Given the description of an element on the screen output the (x, y) to click on. 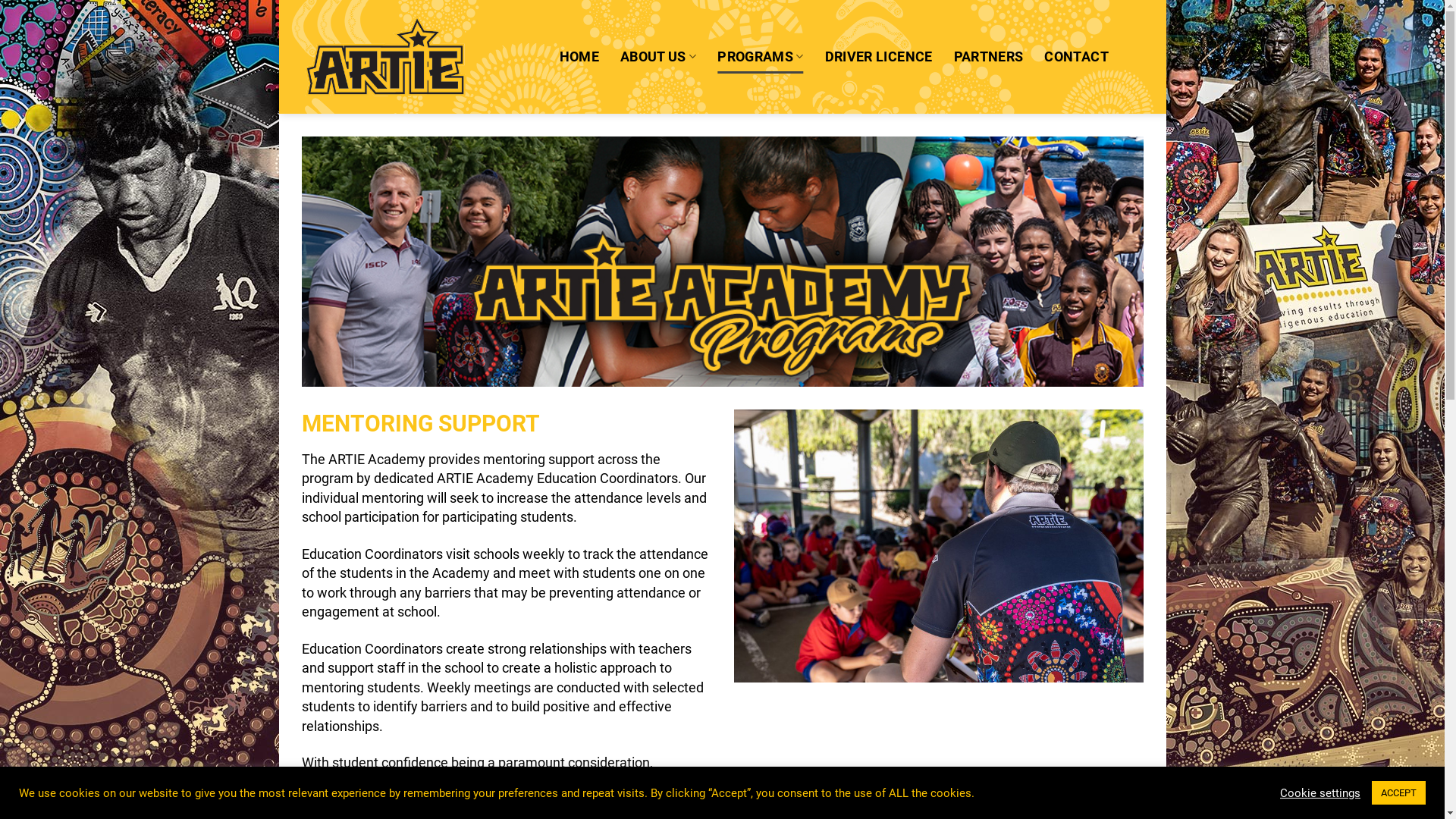
HOME Element type: text (579, 56)
ACCEPT Element type: text (1398, 792)
PROGRAMS Element type: text (760, 56)
ABOUT US Element type: text (658, 56)
CONTACT Element type: text (1075, 56)
PARTNERS Element type: text (988, 56)
ARTIE - Inspire, Encourage, Succeed Element type: hover (384, 56)
DRIVER LICENCE Element type: text (878, 56)
Cookie settings Element type: text (1320, 792)
